Given the description of an element on the screen output the (x, y) to click on. 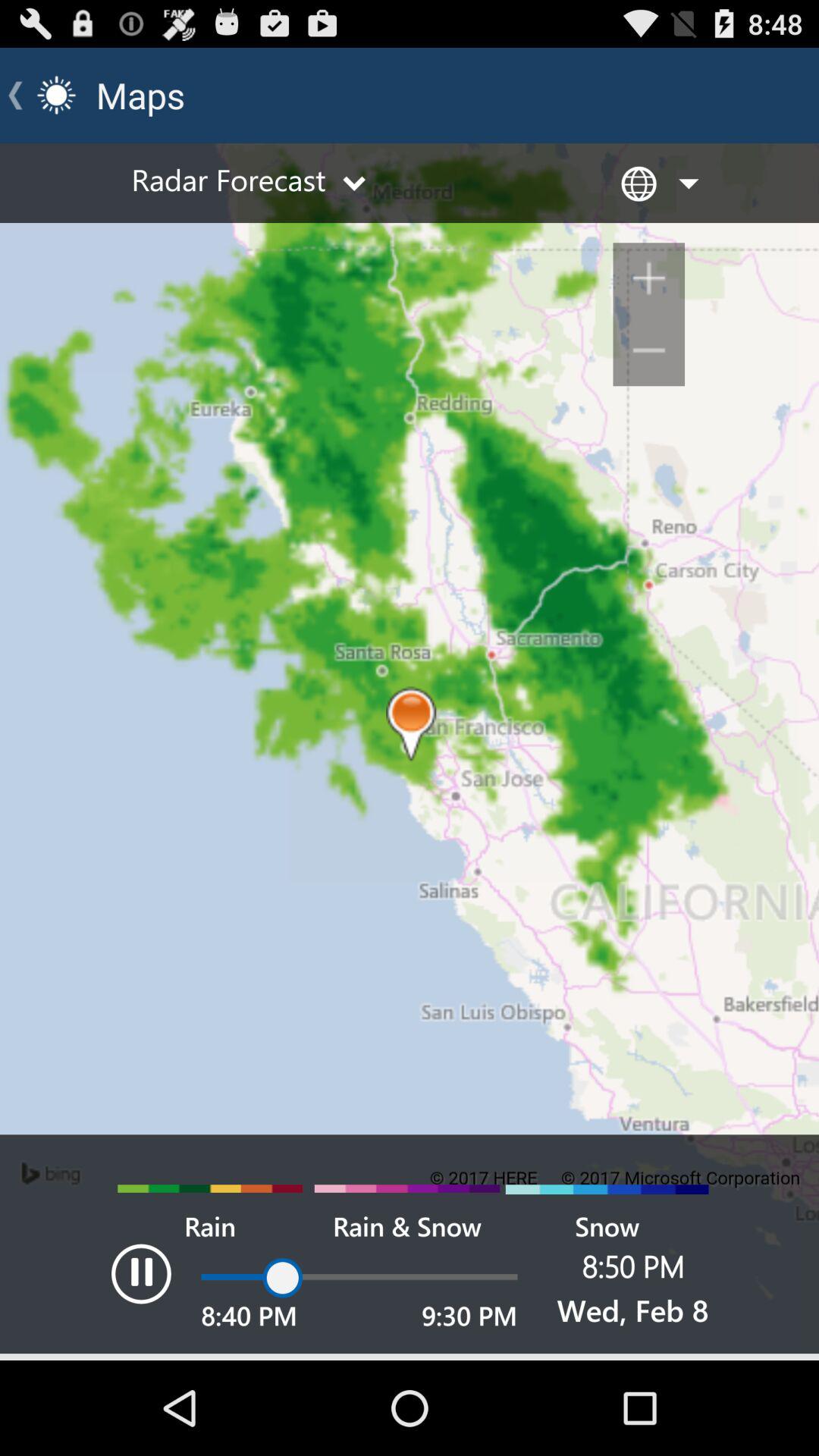
go to map (409, 751)
